Given the description of an element on the screen output the (x, y) to click on. 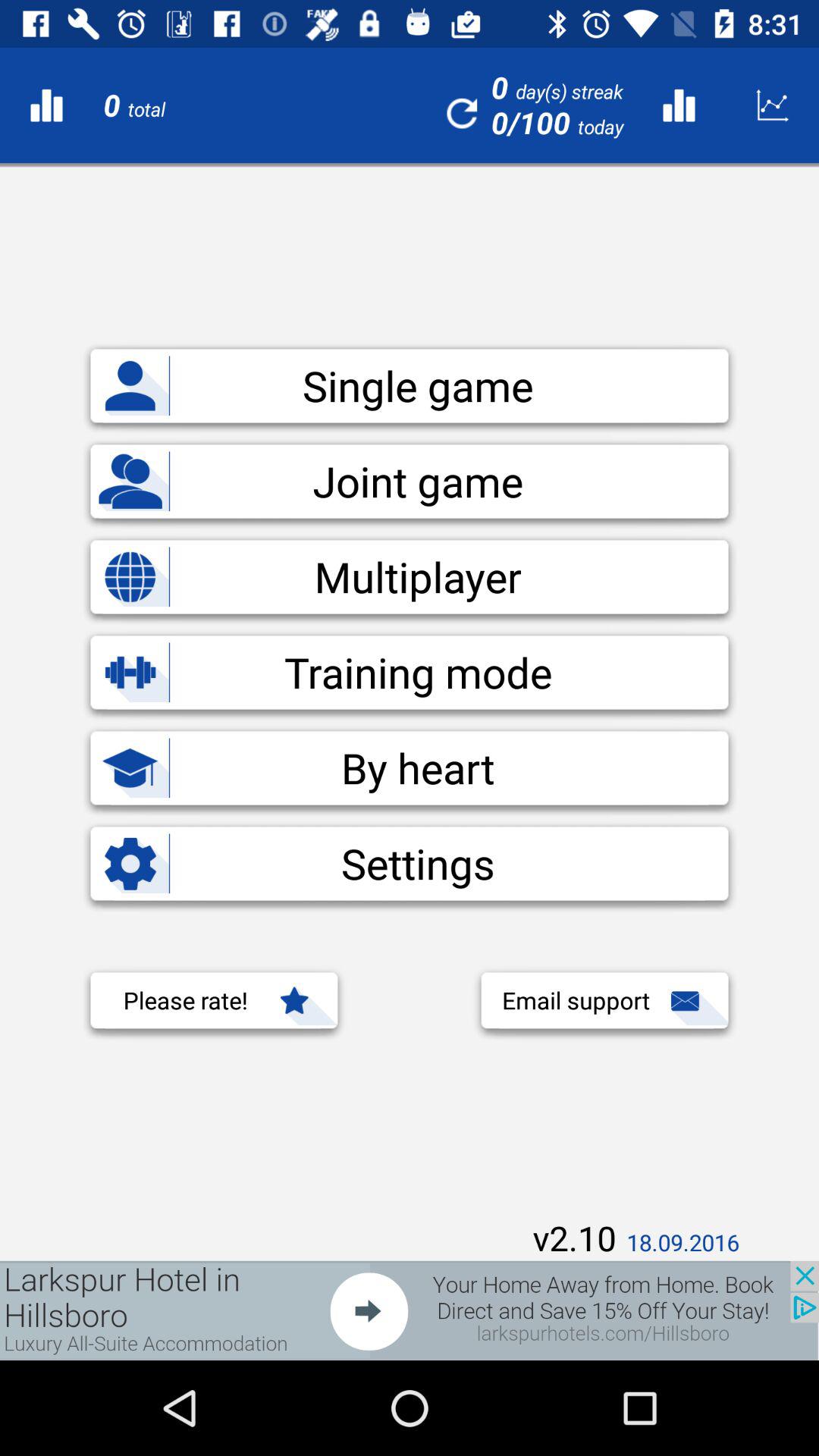
view the advertisement (409, 1310)
